Given the description of an element on the screen output the (x, y) to click on. 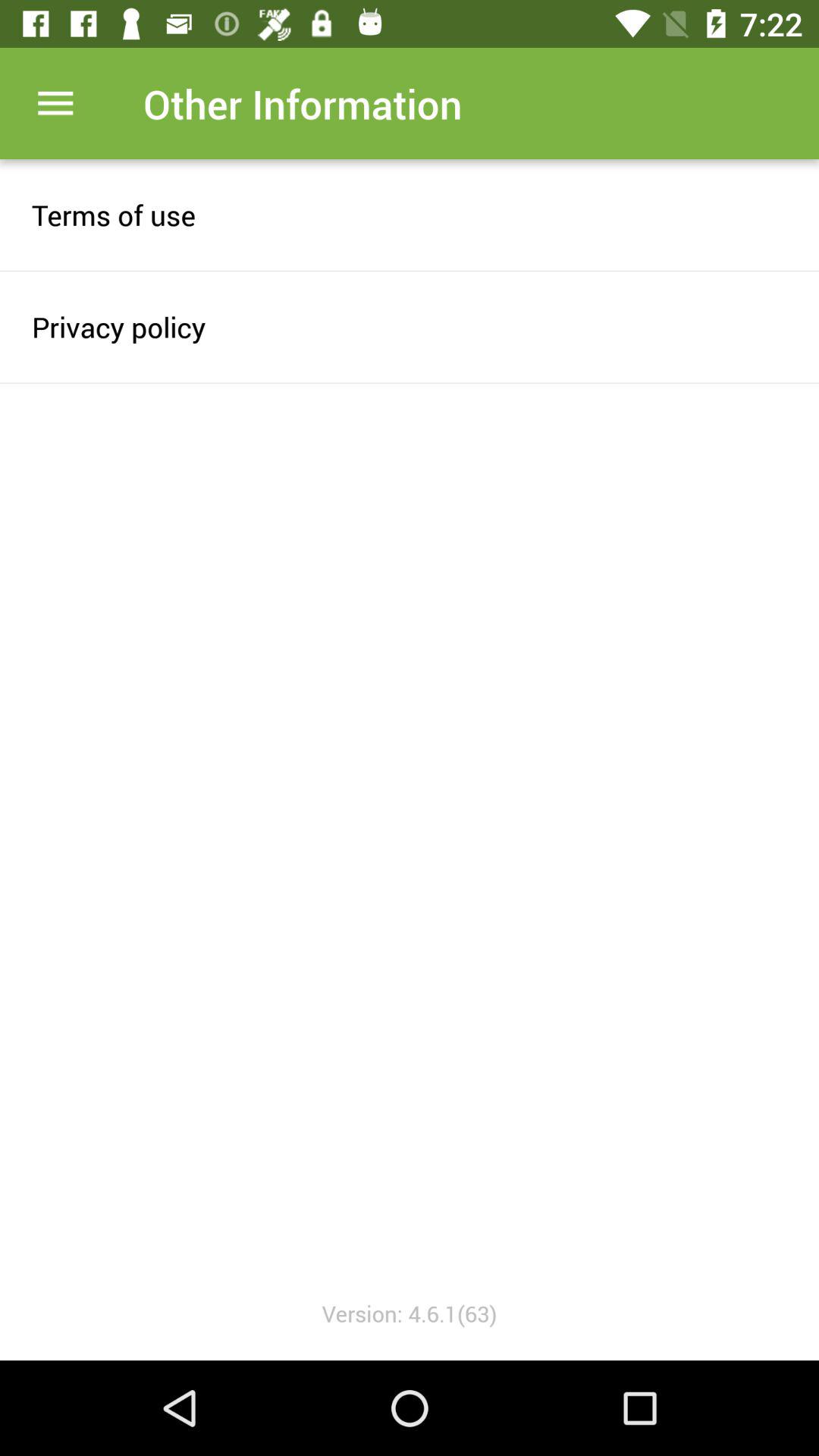
choose item above privacy policy (409, 214)
